Given the description of an element on the screen output the (x, y) to click on. 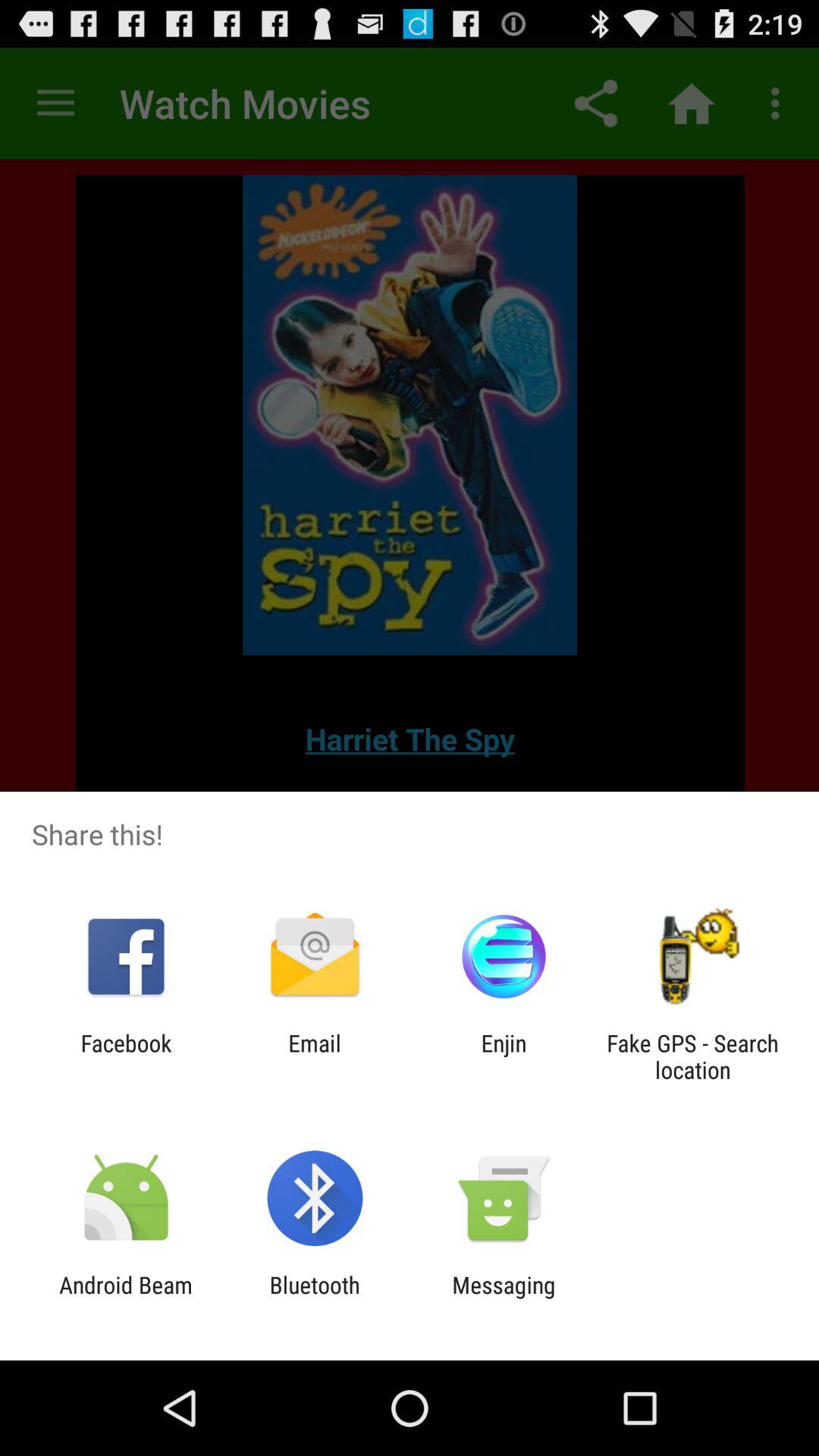
launch item at the bottom right corner (692, 1056)
